Given the description of an element on the screen output the (x, y) to click on. 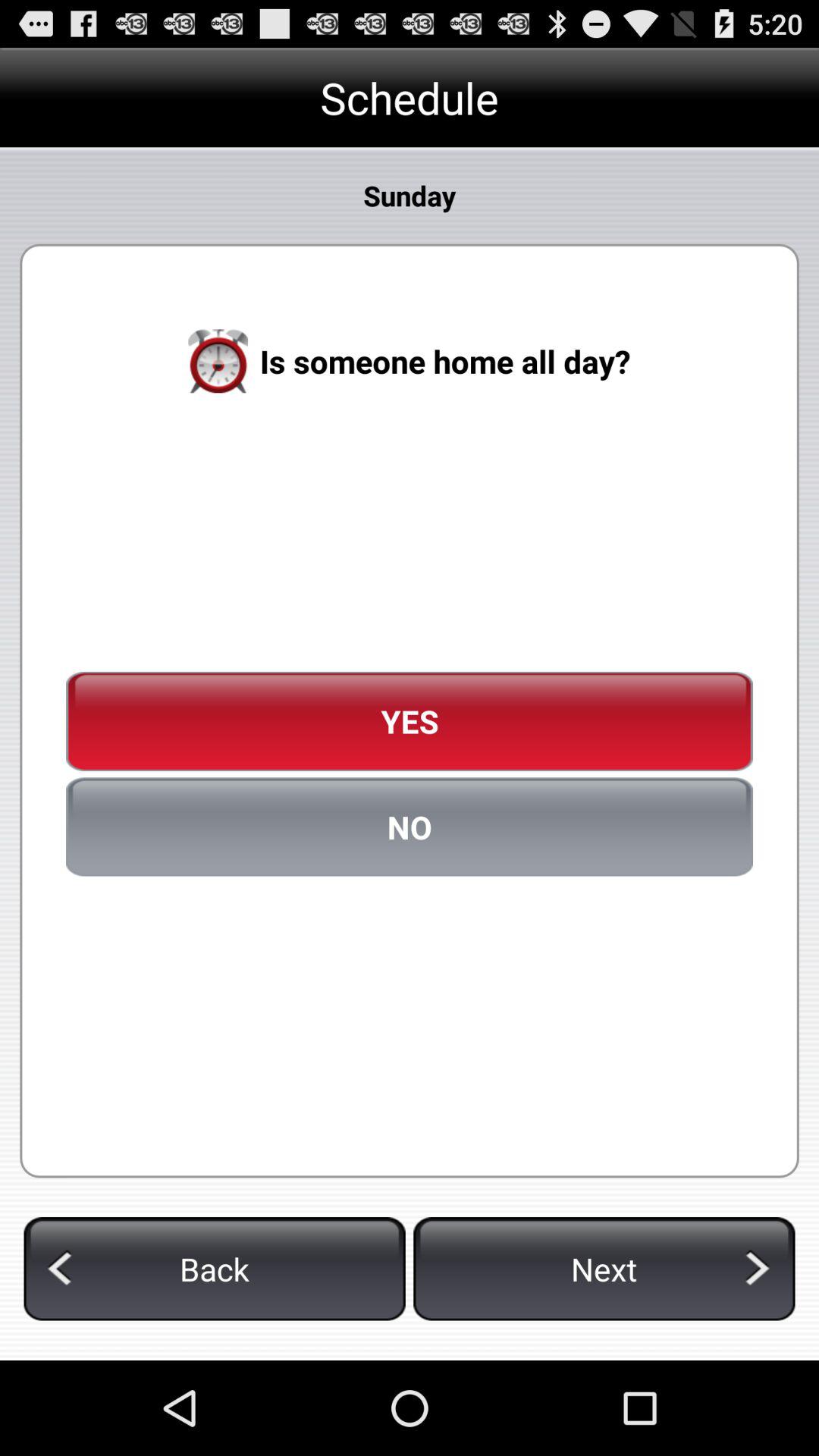
choose the icon at the bottom left corner (214, 1268)
